Given the description of an element on the screen output the (x, y) to click on. 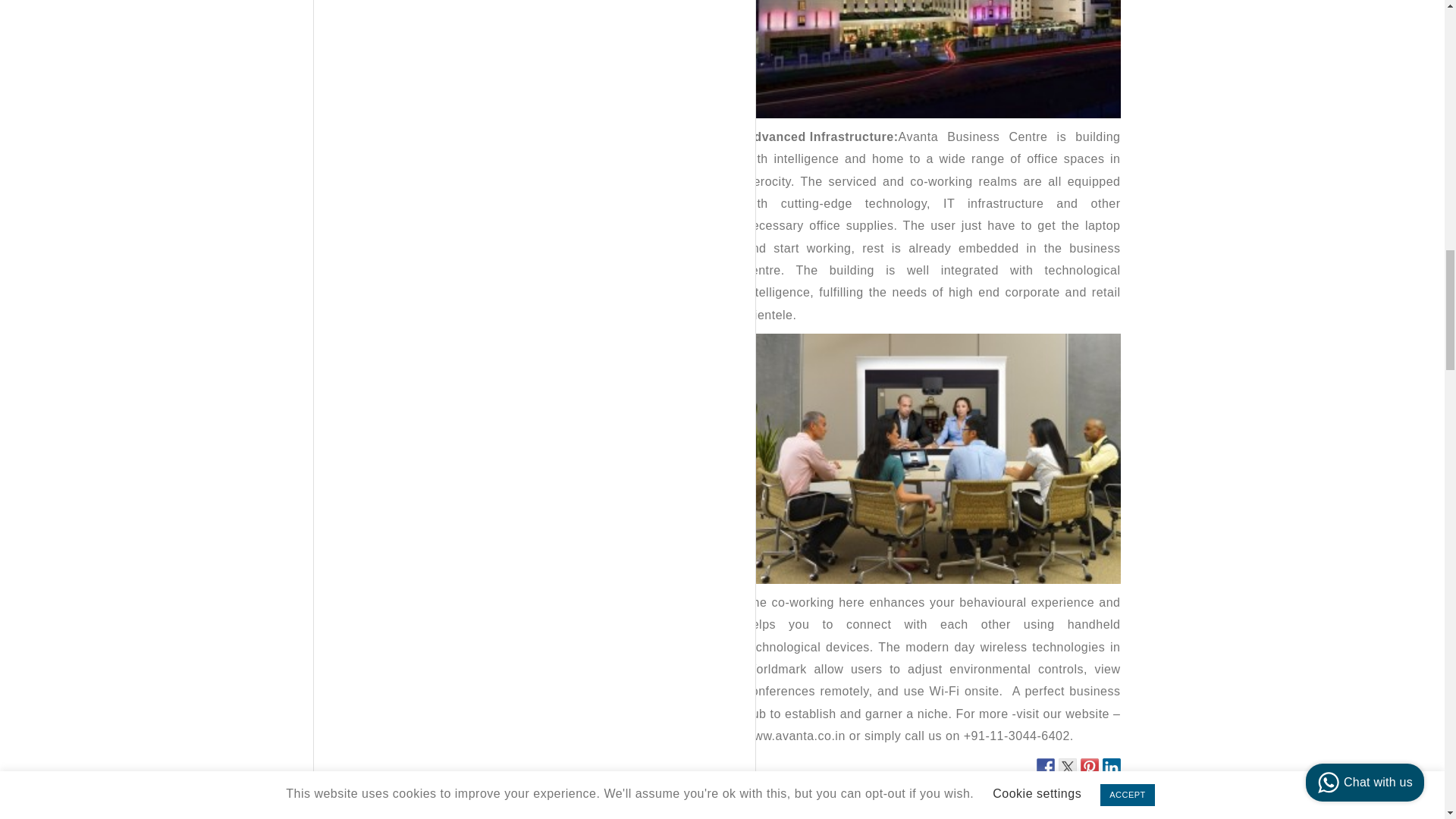
Pin it with Pinterest (1088, 767)
Share on Facebook (1044, 767)
Share on Twitter (1067, 767)
Share on Linkedin (1111, 767)
